Given the description of an element on the screen output the (x, y) to click on. 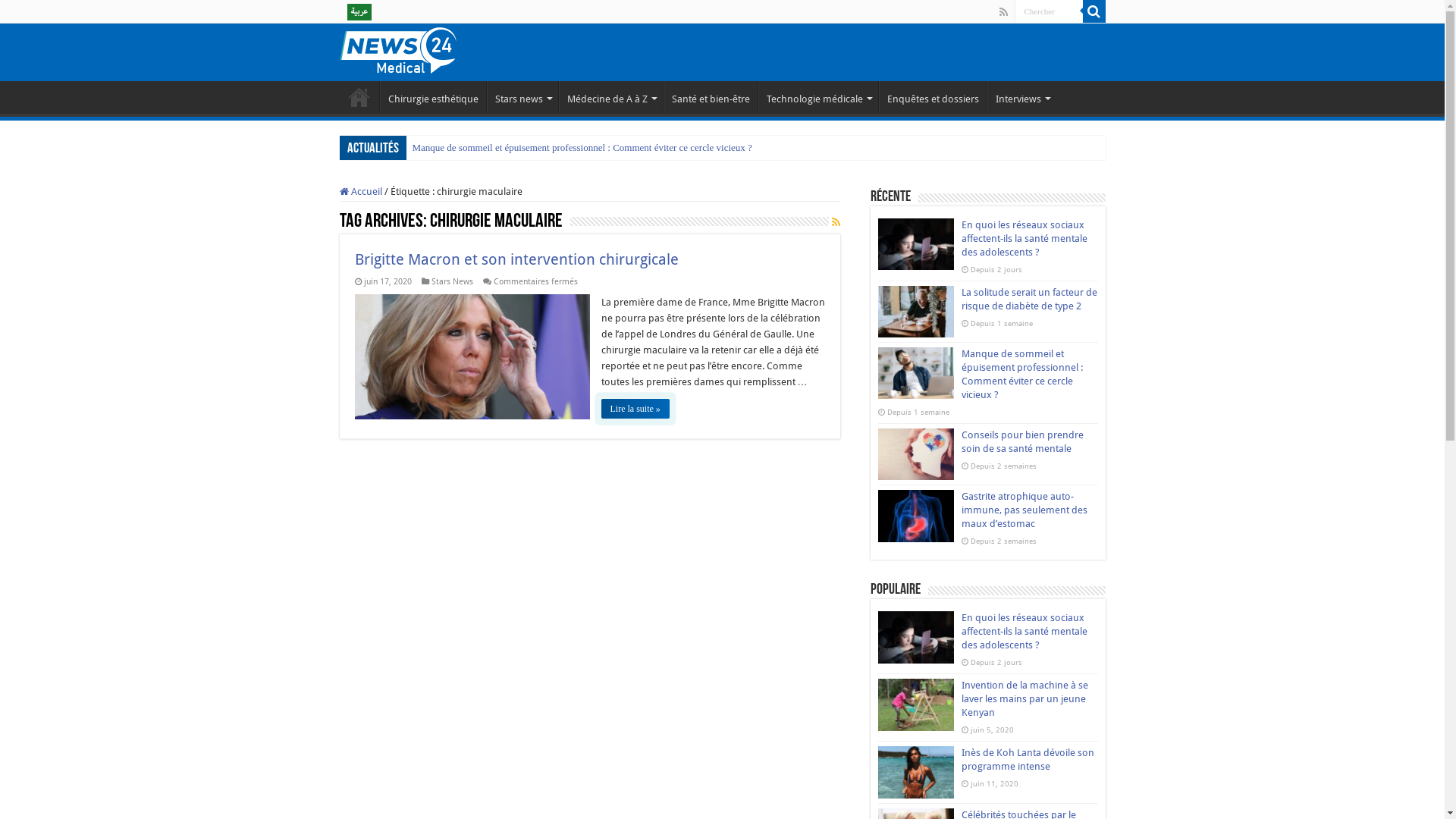
Brigitte Macron et son intervention chirurgicale Element type: text (516, 259)
Rss Element type: hover (1003, 12)
Accueil Element type: text (360, 191)
Feed Subscription Element type: hover (835, 222)
Stars news Element type: text (522, 96)
Interviews Element type: text (1021, 96)
Home Element type: text (359, 96)
Chercher Element type: hover (1048, 10)
Chercher Element type: text (1093, 11)
Stars News Element type: text (451, 281)
Medical news Element type: hover (397, 49)
